Given the description of an element on the screen output the (x, y) to click on. 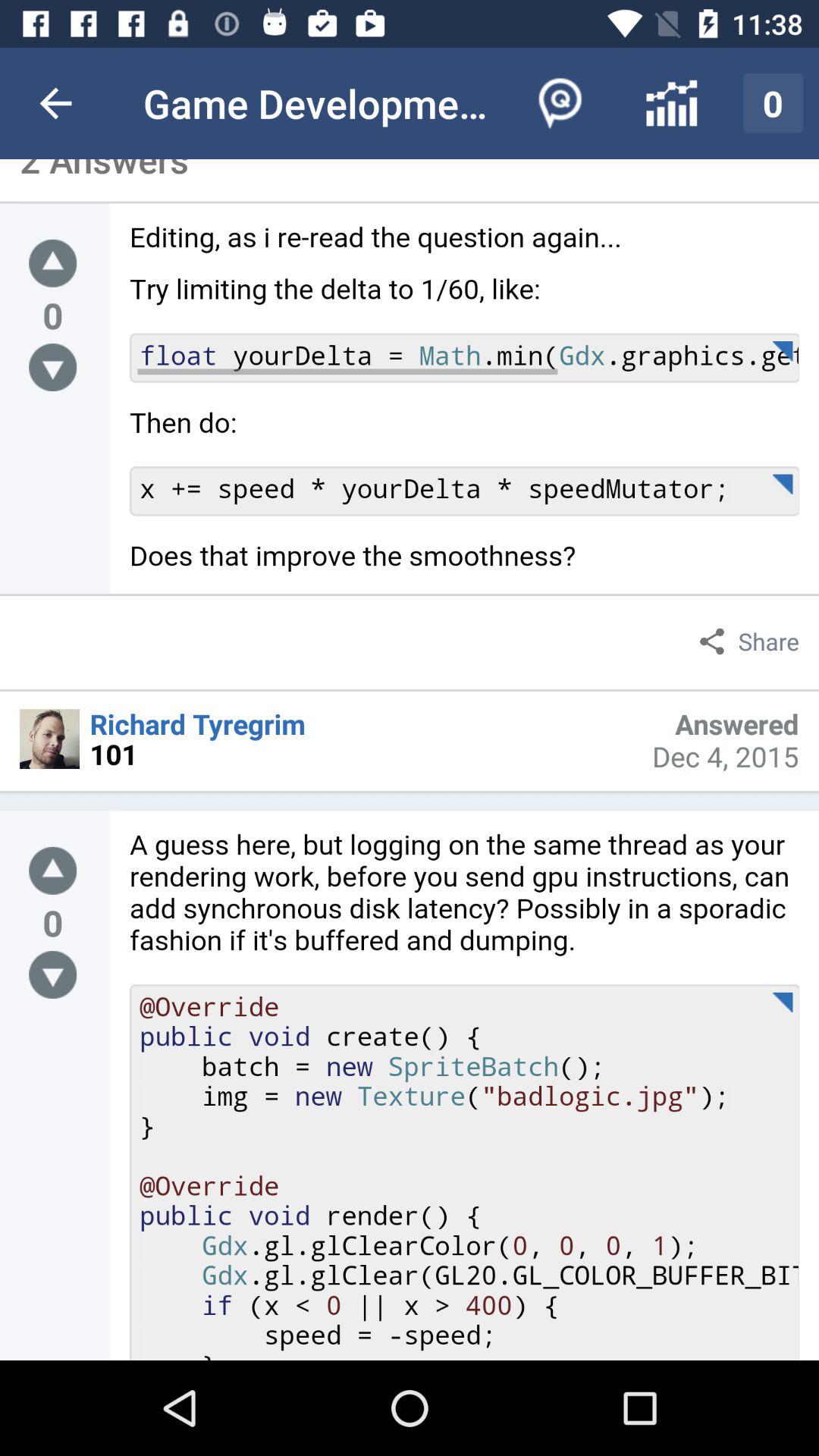
bell button (52, 870)
